Given the description of an element on the screen output the (x, y) to click on. 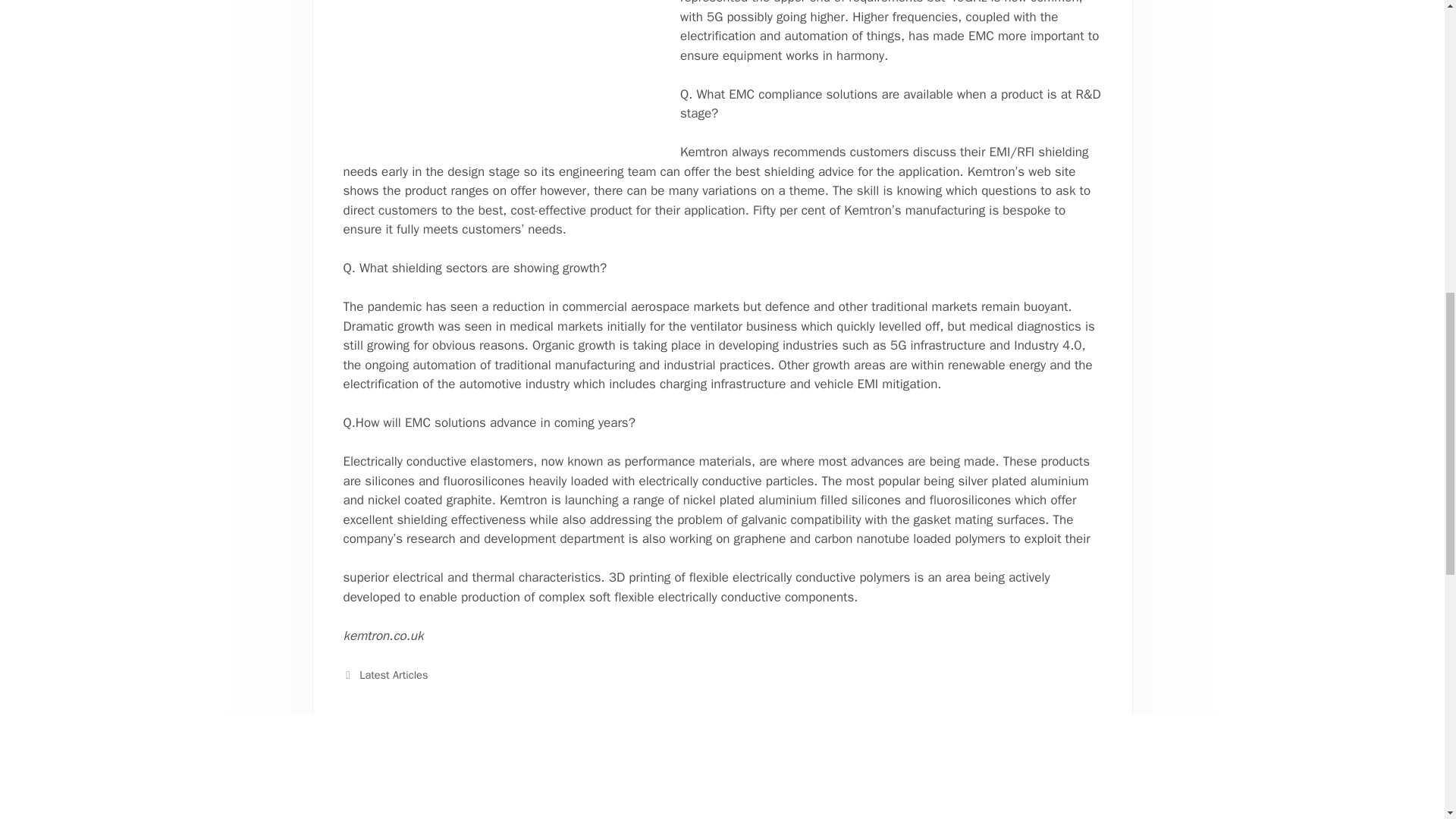
Latest Articles (393, 674)
